Given the description of an element on the screen output the (x, y) to click on. 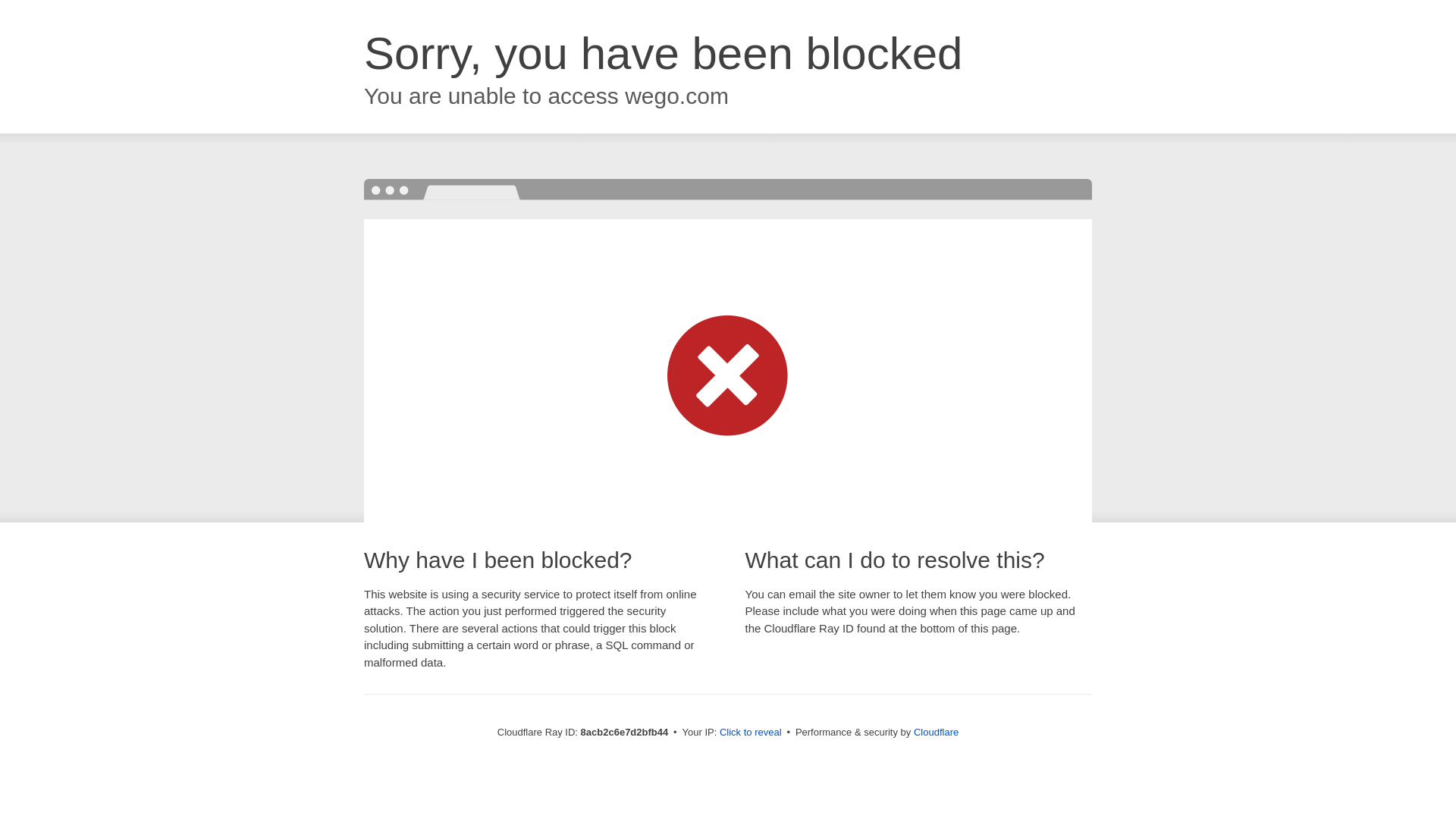
Cloudflare (936, 731)
Click to reveal (750, 732)
